Given the description of an element on the screen output the (x, y) to click on. 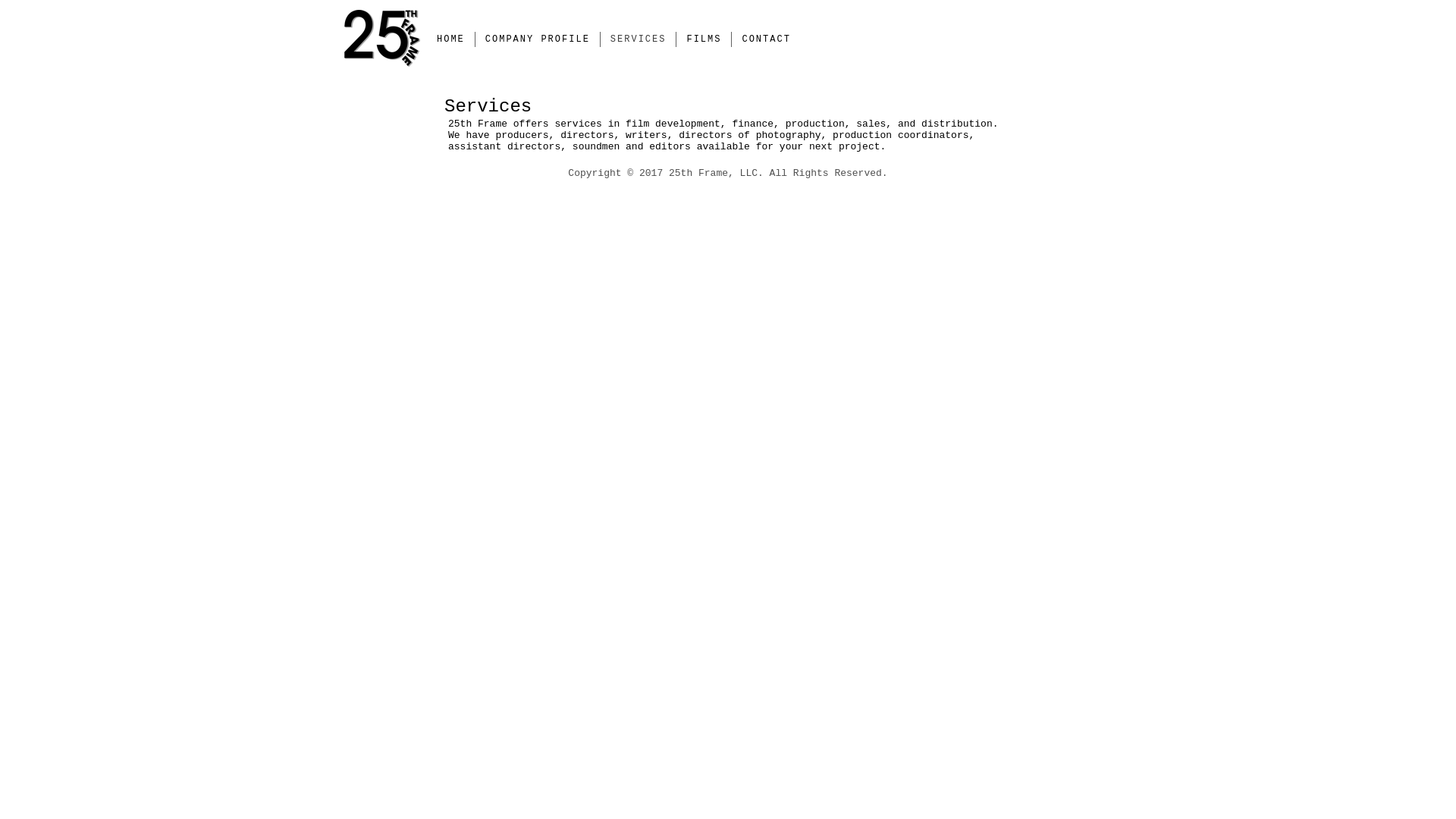
SERVICES Element type: text (638, 39)
HOME Element type: text (450, 39)
CONTACT Element type: text (765, 39)
FILMS Element type: text (703, 39)
COMPANY PROFILE Element type: text (537, 39)
